Given the description of an element on the screen output the (x, y) to click on. 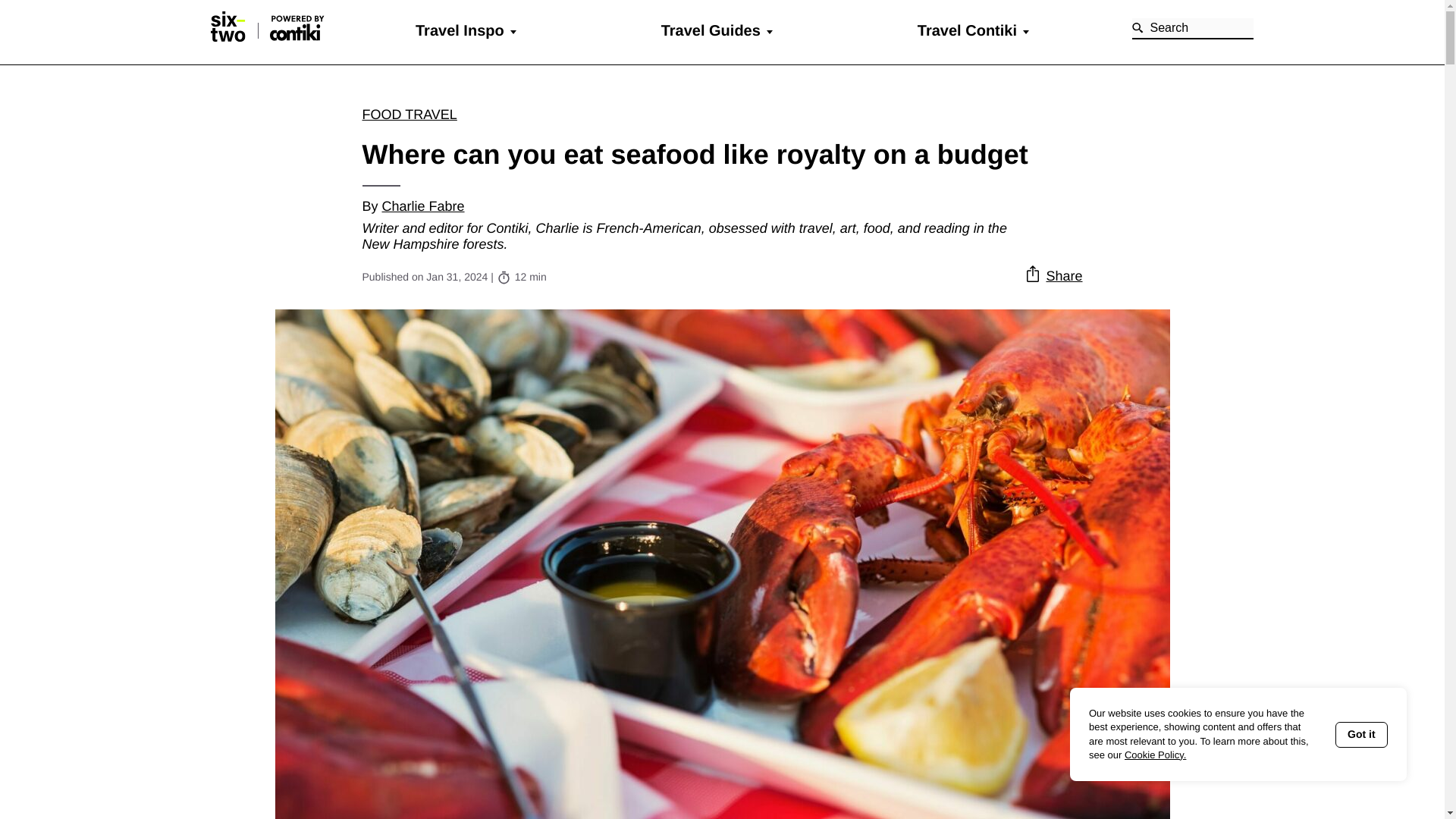
Travel Inspo (458, 30)
Travel Guides (710, 30)
Travel Contiki (966, 30)
